Given the description of an element on the screen output the (x, y) to click on. 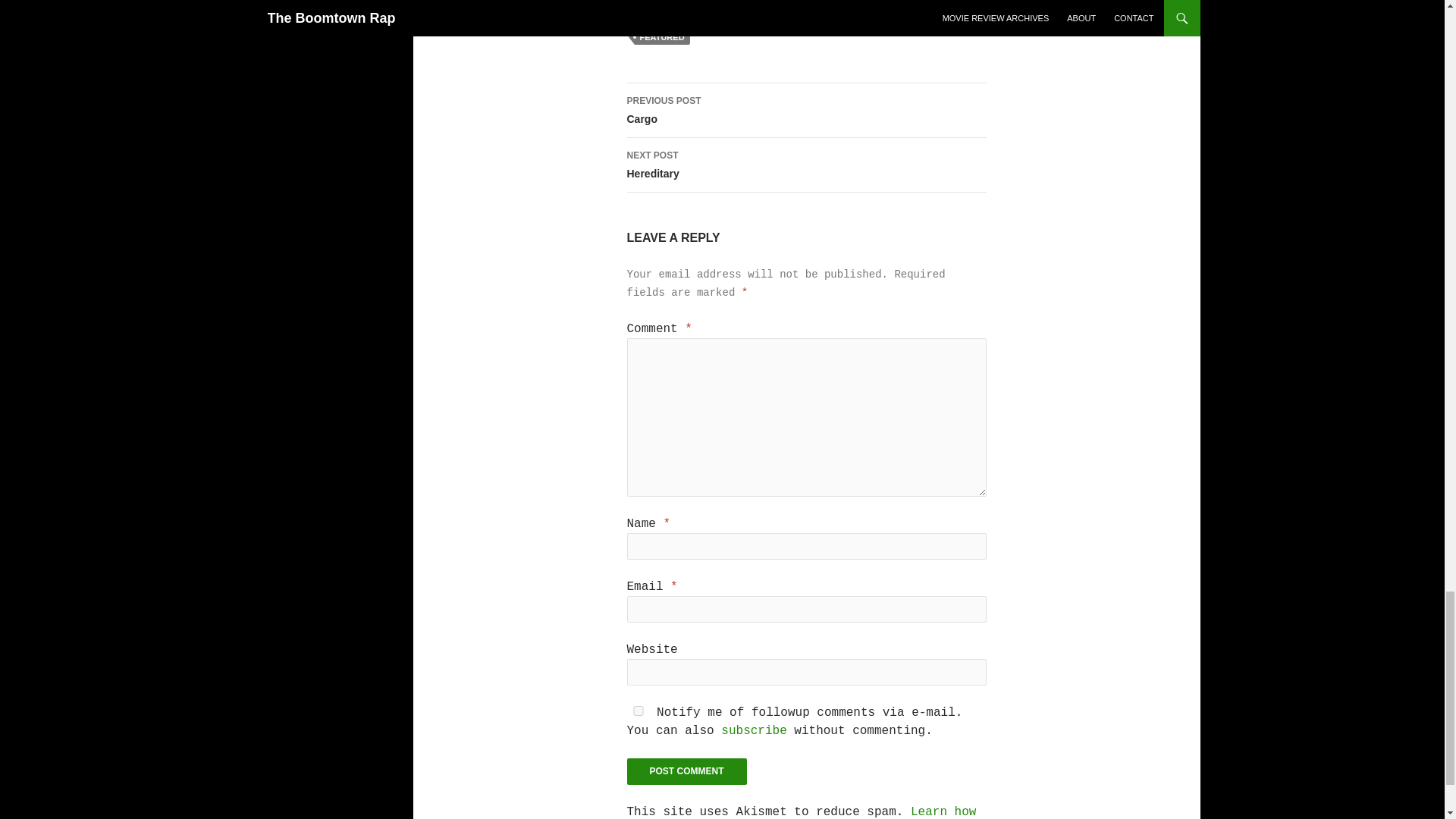
Learn how your comment data is processed (800, 812)
subscribe (805, 110)
FEATURED (753, 730)
Post Comment (660, 37)
yes (685, 771)
Post Comment (805, 165)
